Given the description of an element on the screen output the (x, y) to click on. 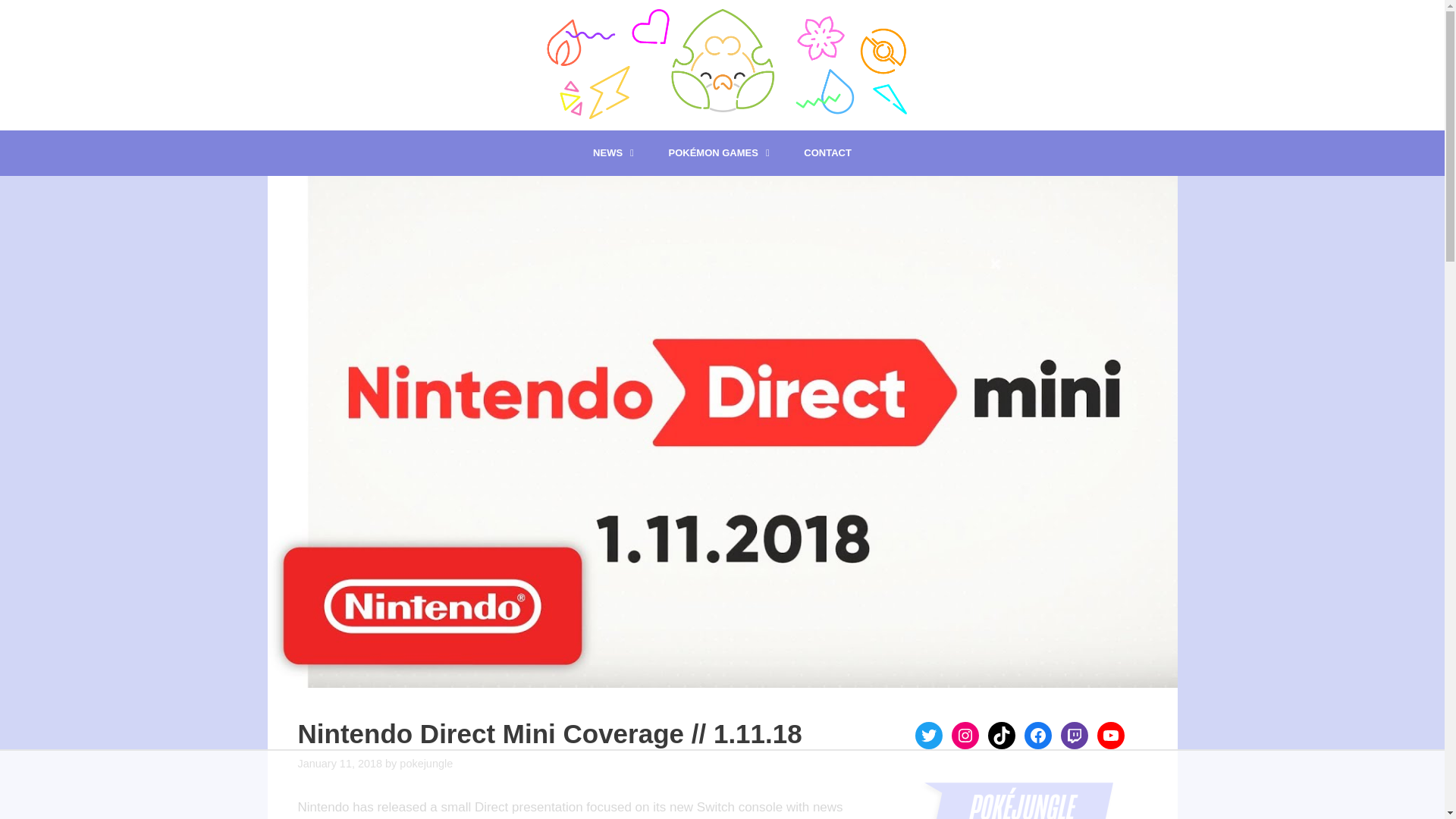
View all posts by pokejungle (425, 763)
NEWS (615, 153)
